Given the description of an element on the screen output the (x, y) to click on. 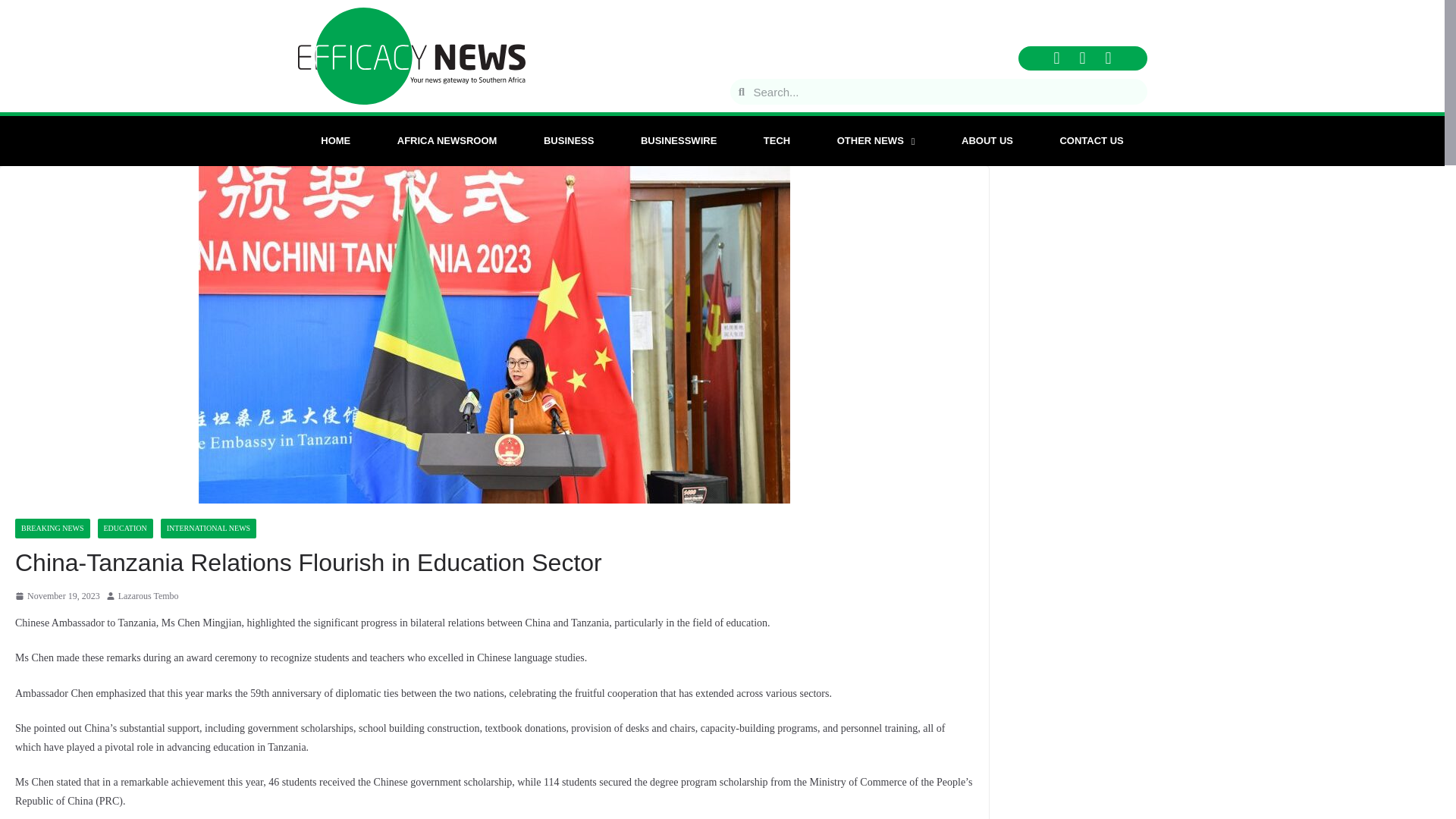
OTHER NEWS (875, 140)
TECH (776, 140)
BUSINESS (568, 140)
BUSINESSWIRE (678, 140)
CONTACT US (1091, 140)
ABOUT US (986, 140)
AFRICA NEWSROOM (446, 140)
HOME (335, 140)
Lazarous Tembo (148, 596)
11:16 am (57, 596)
